Given the description of an element on the screen output the (x, y) to click on. 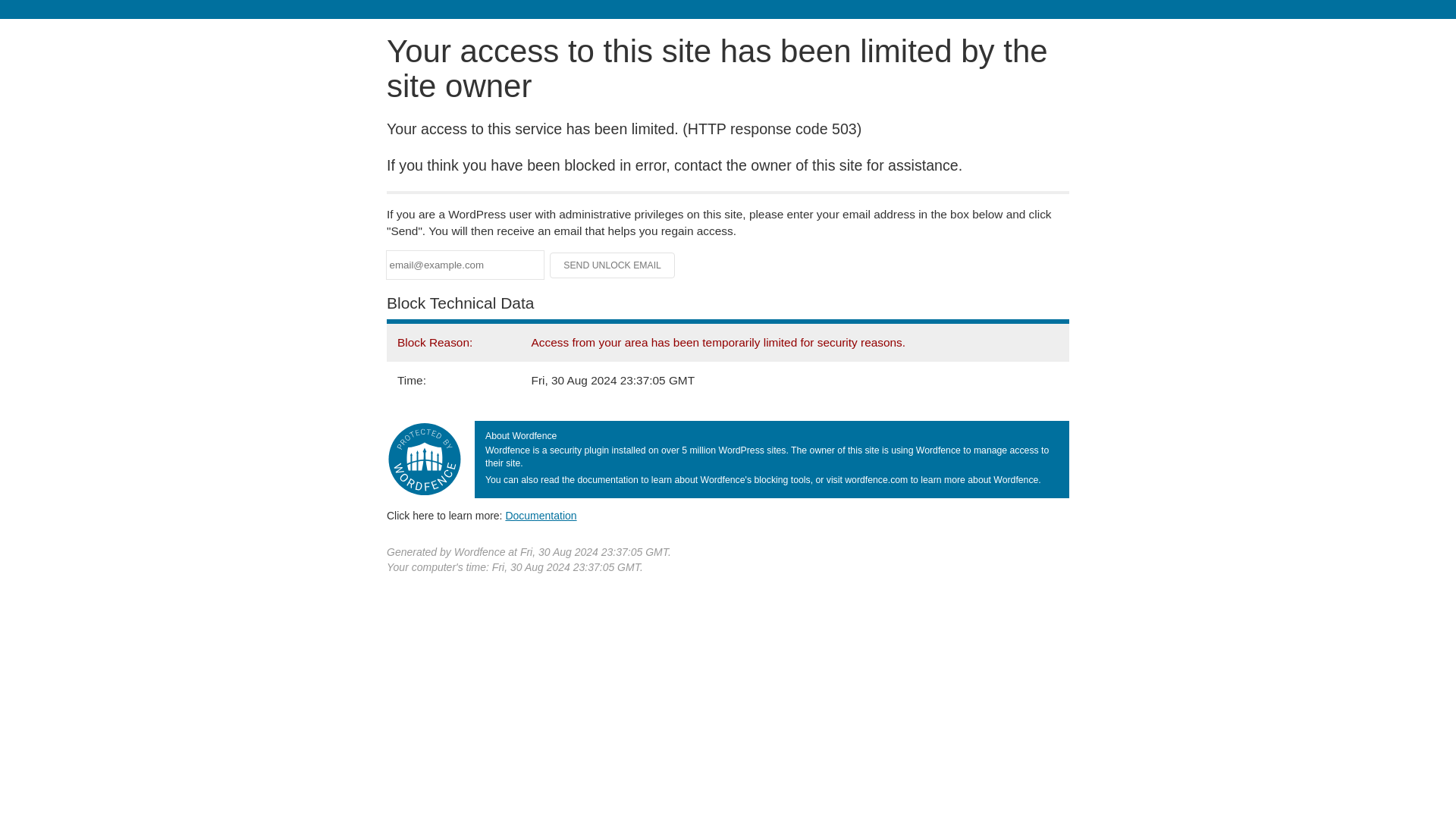
Send Unlock Email (612, 265)
Documentation (540, 515)
Send Unlock Email (612, 265)
